Given the description of an element on the screen output the (x, y) to click on. 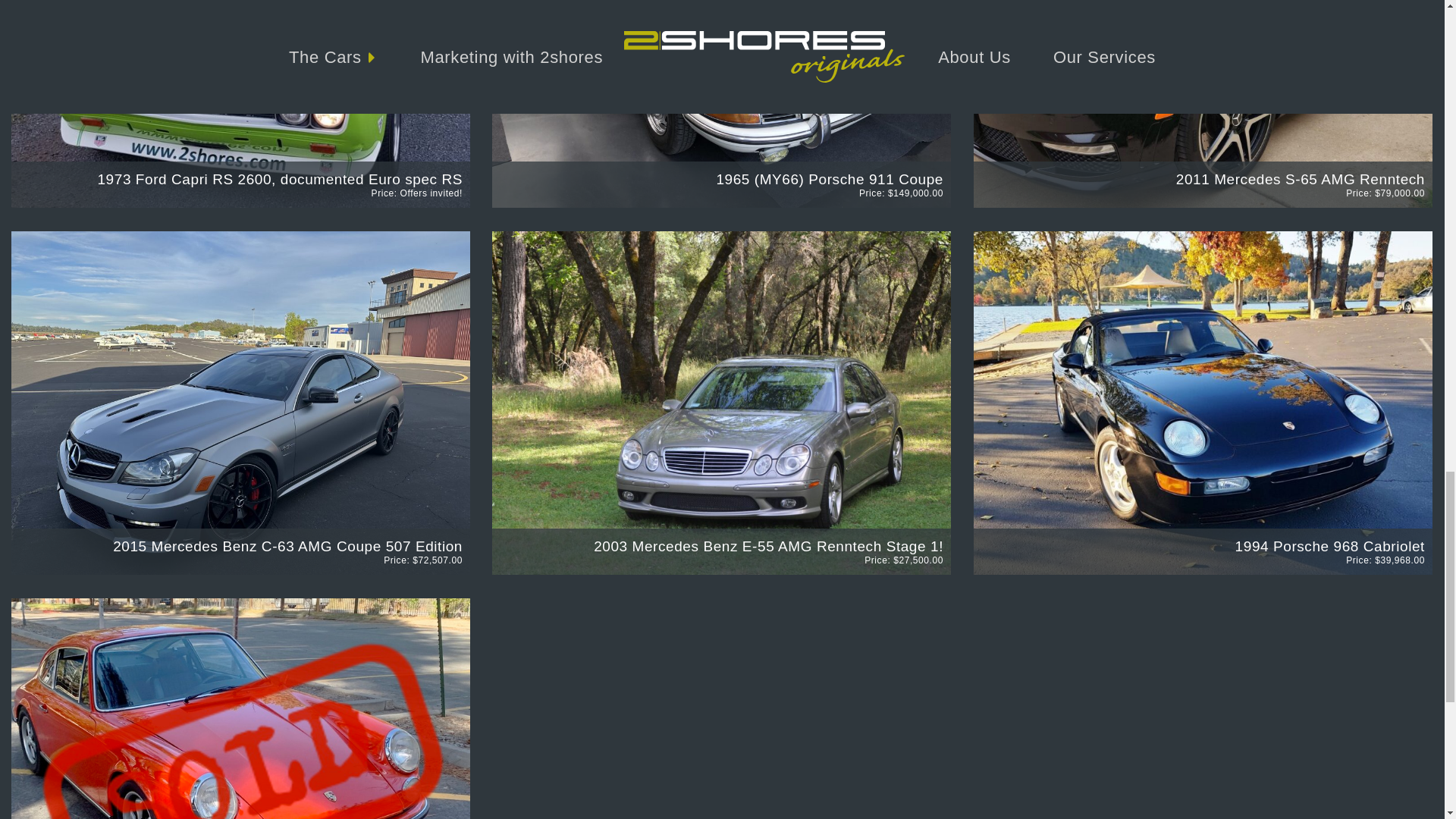
1973 Ford Capri RS 2600, documented Euro spec RS (280, 179)
